Given the description of an element on the screen output the (x, y) to click on. 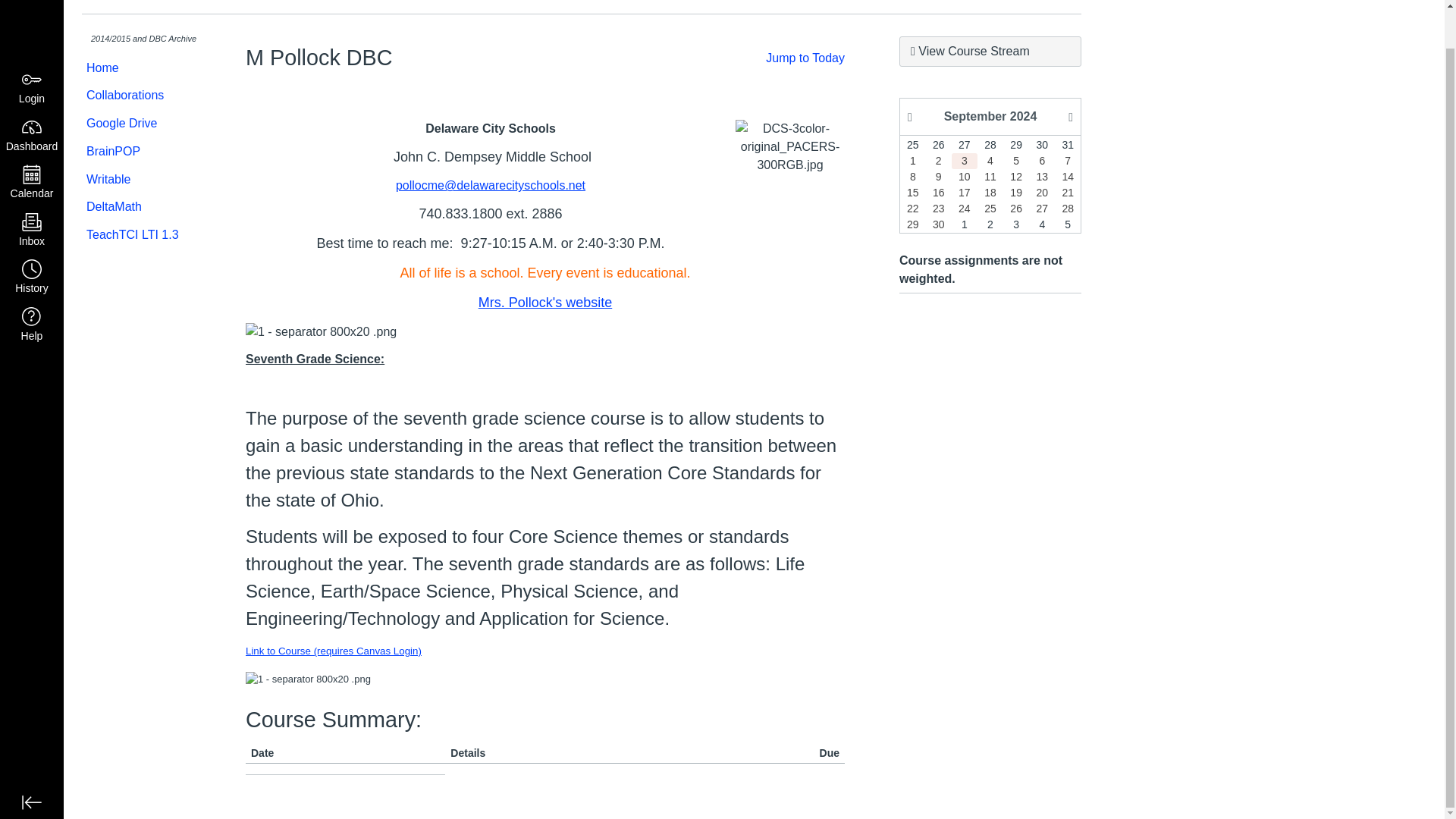
Dashboard (32, 95)
Calendar (32, 142)
Login (32, 48)
Collaborations (140, 95)
Home (140, 67)
Help (32, 285)
DeltaMath (140, 207)
Jump to Today (804, 57)
Mrs. Pollock's website (545, 302)
Writable (140, 180)
